Given the description of an element on the screen output the (x, y) to click on. 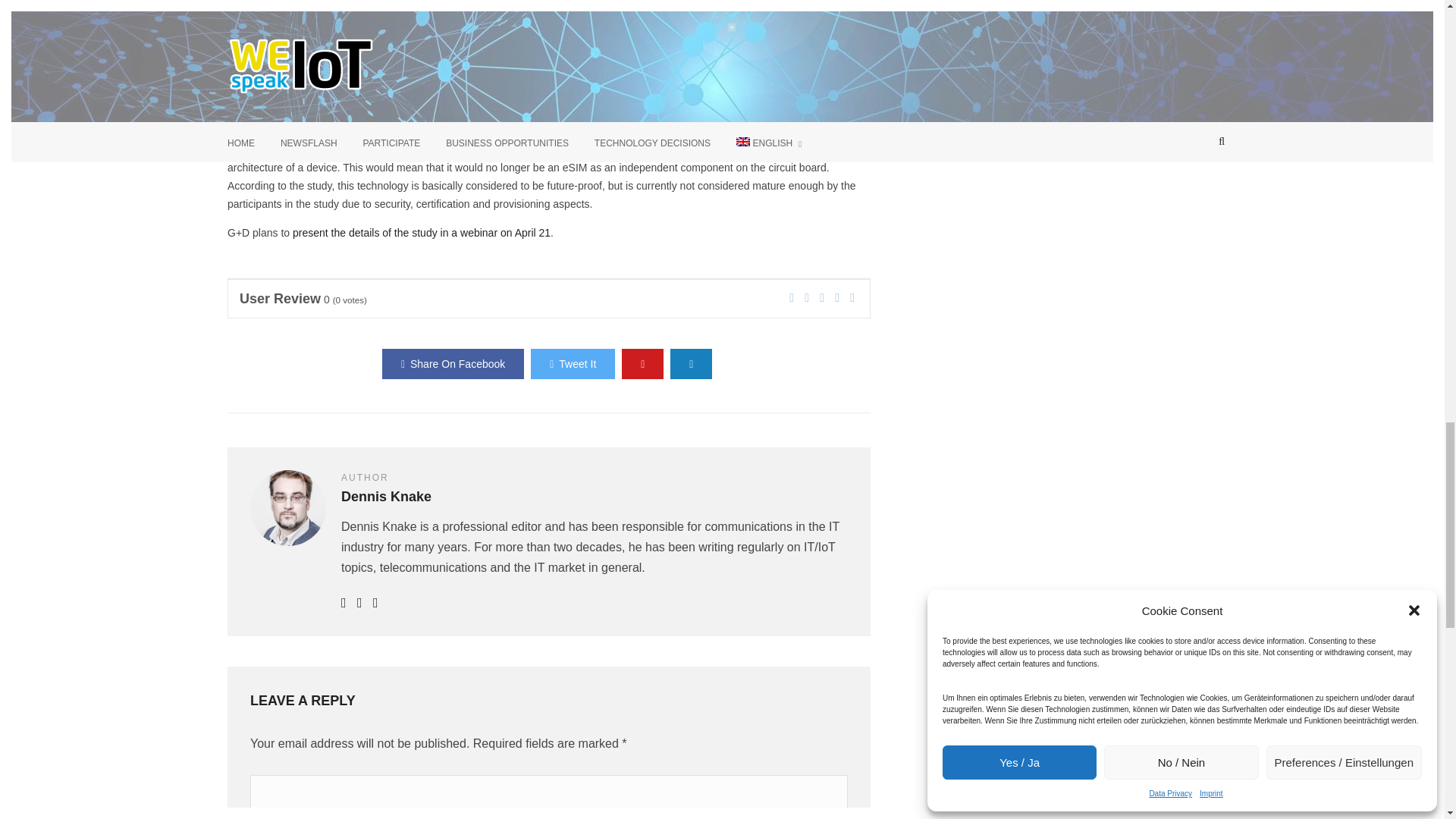
present the details of the study in a webinar on April 21 (421, 232)
Share by Email (690, 363)
Share On Facebook (452, 363)
Share On Pinterest (642, 363)
Tweet It (572, 363)
Share On Twitter (572, 363)
Share On Facebook (452, 363)
